Given the description of an element on the screen output the (x, y) to click on. 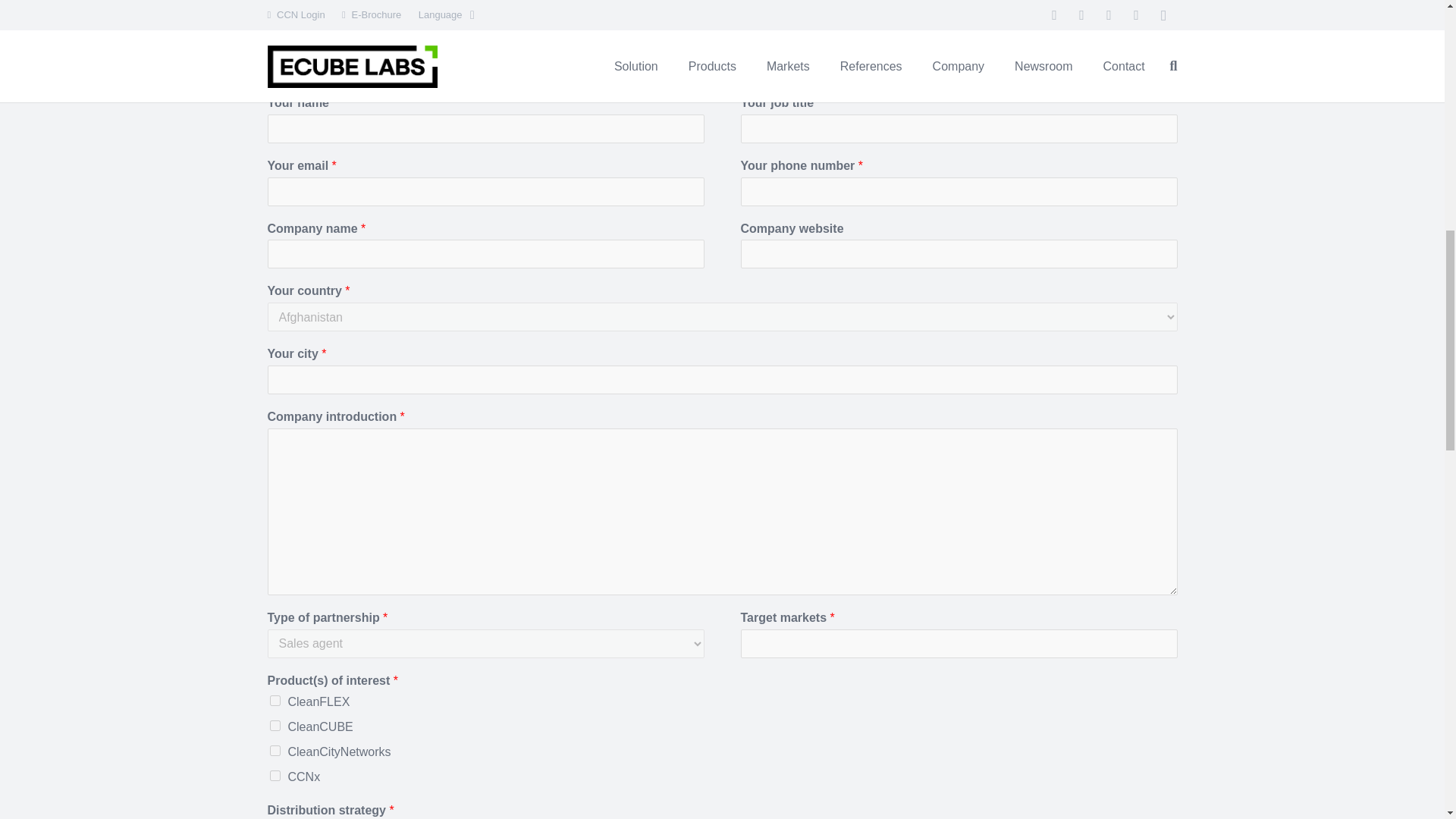
CleanFLEX (275, 700)
CleanCityNetworks (275, 750)
CleanCUBE (275, 725)
Back to top (1413, 30)
CCNx (275, 775)
